Given the description of an element on the screen output the (x, y) to click on. 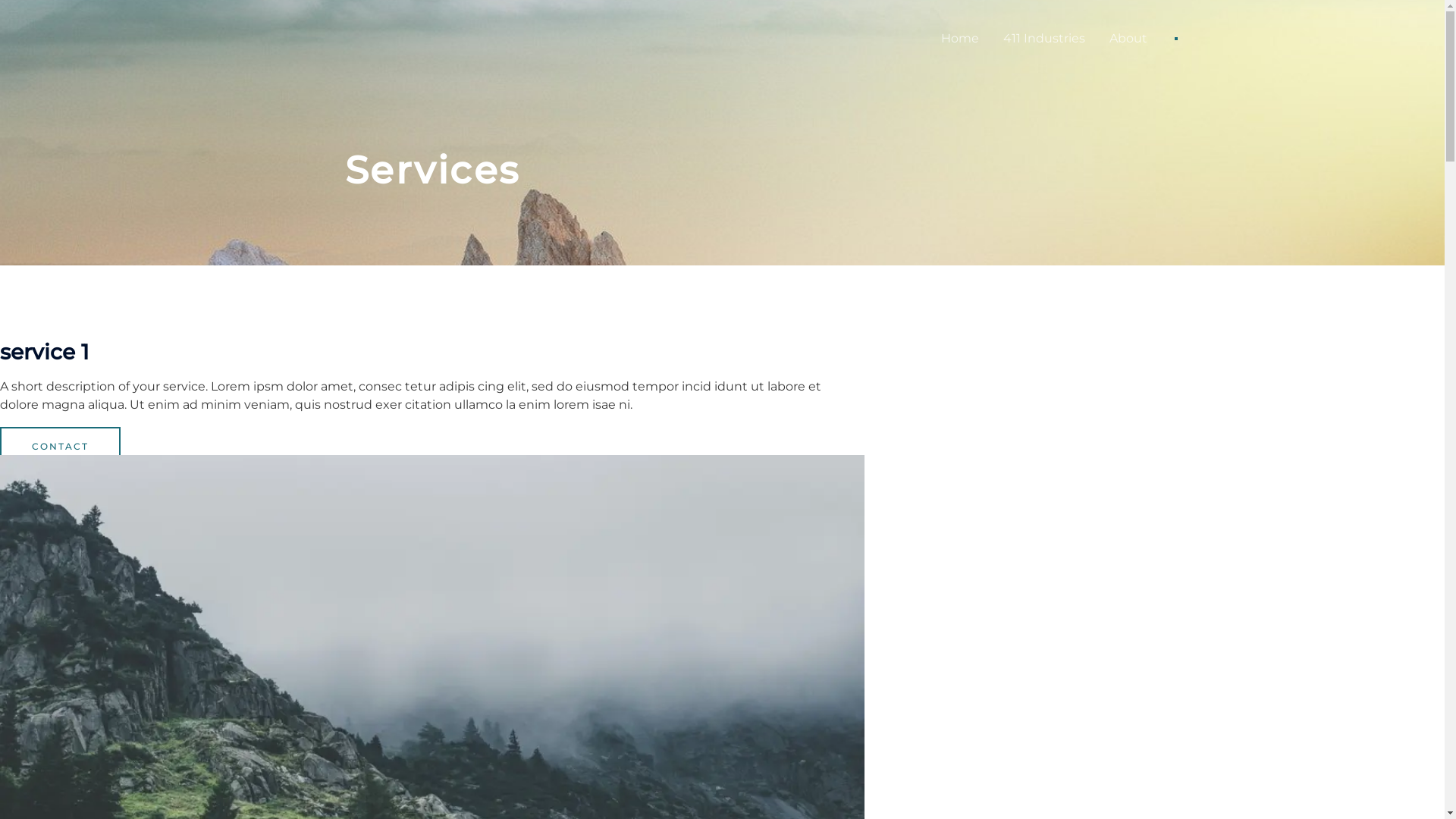
CONTACT Element type: text (60, 445)
About Element type: text (1127, 38)
Home Element type: text (959, 38)
411 Industries Element type: text (1043, 38)
